Given the description of an element on the screen output the (x, y) to click on. 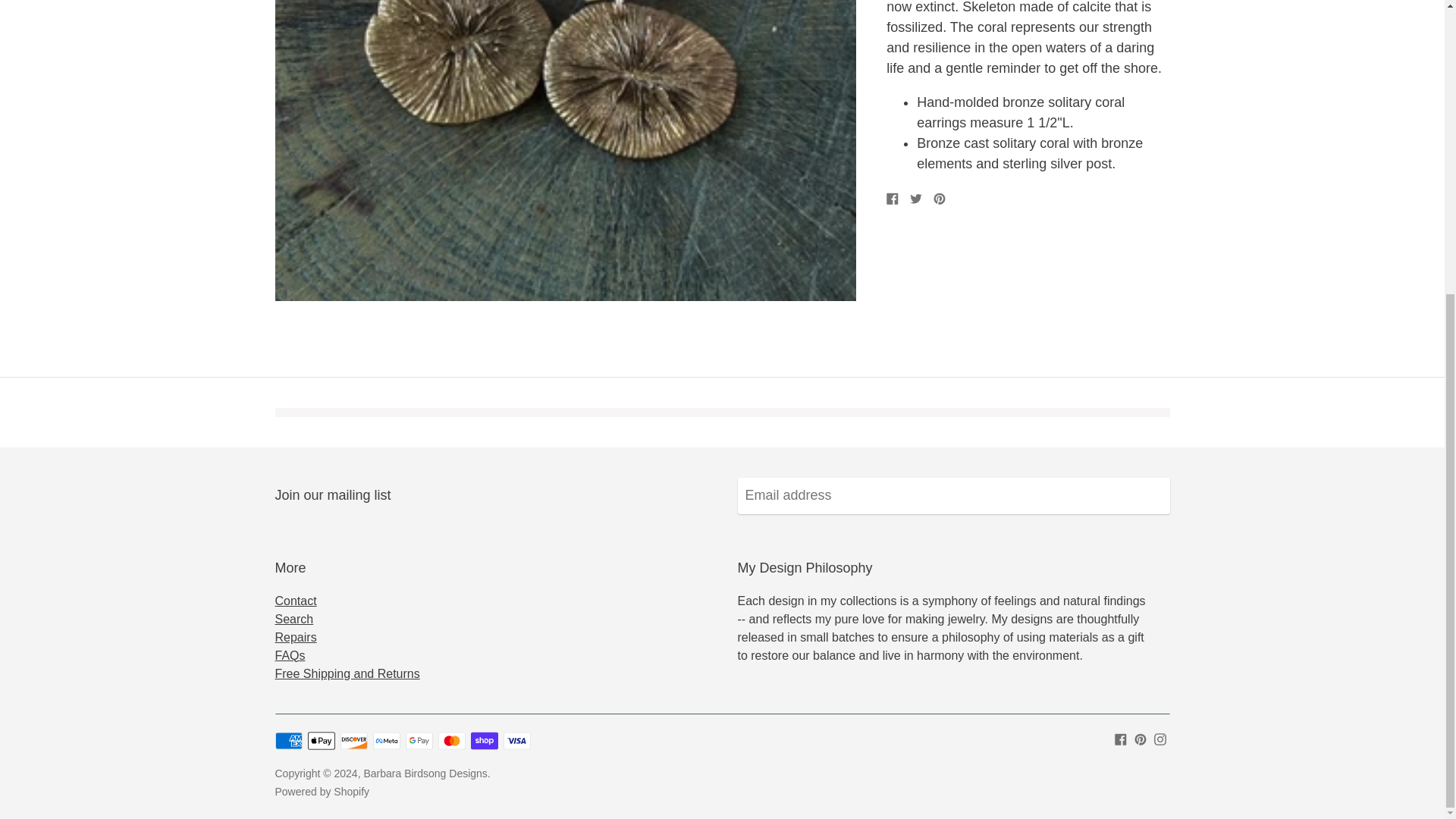
American Express (288, 741)
Discover (354, 741)
Meta Pay (386, 741)
Apple Pay (320, 741)
Mastercard (451, 741)
Visa (517, 741)
Google Pay (419, 741)
Shop Pay (483, 741)
